Given the description of an element on the screen output the (x, y) to click on. 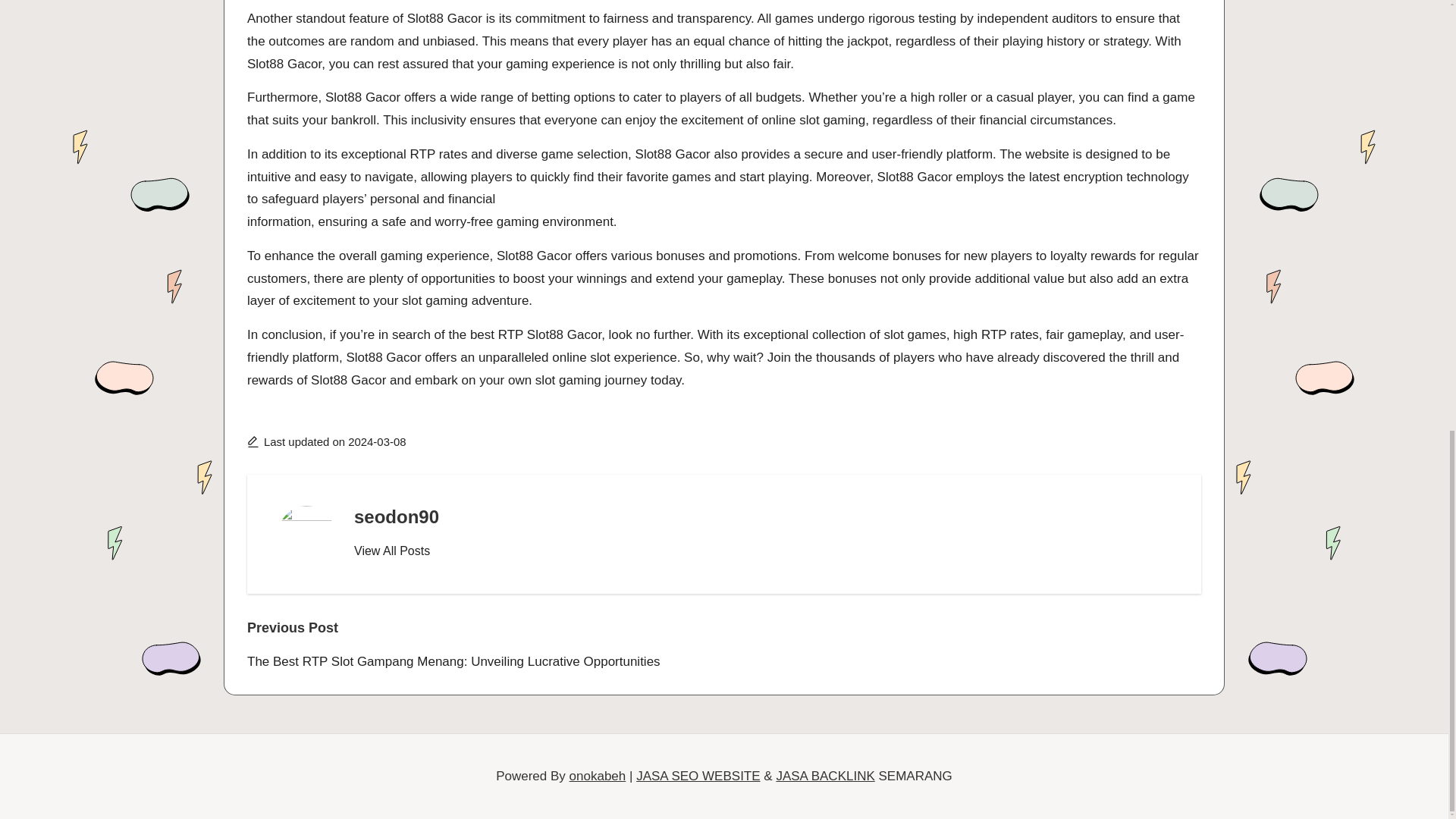
JASA SEO WEBSITE (698, 775)
JASA BACKLINK (825, 775)
onokabeh (597, 775)
View All Posts (391, 551)
seodon90 (396, 516)
